Given the description of an element on the screen output the (x, y) to click on. 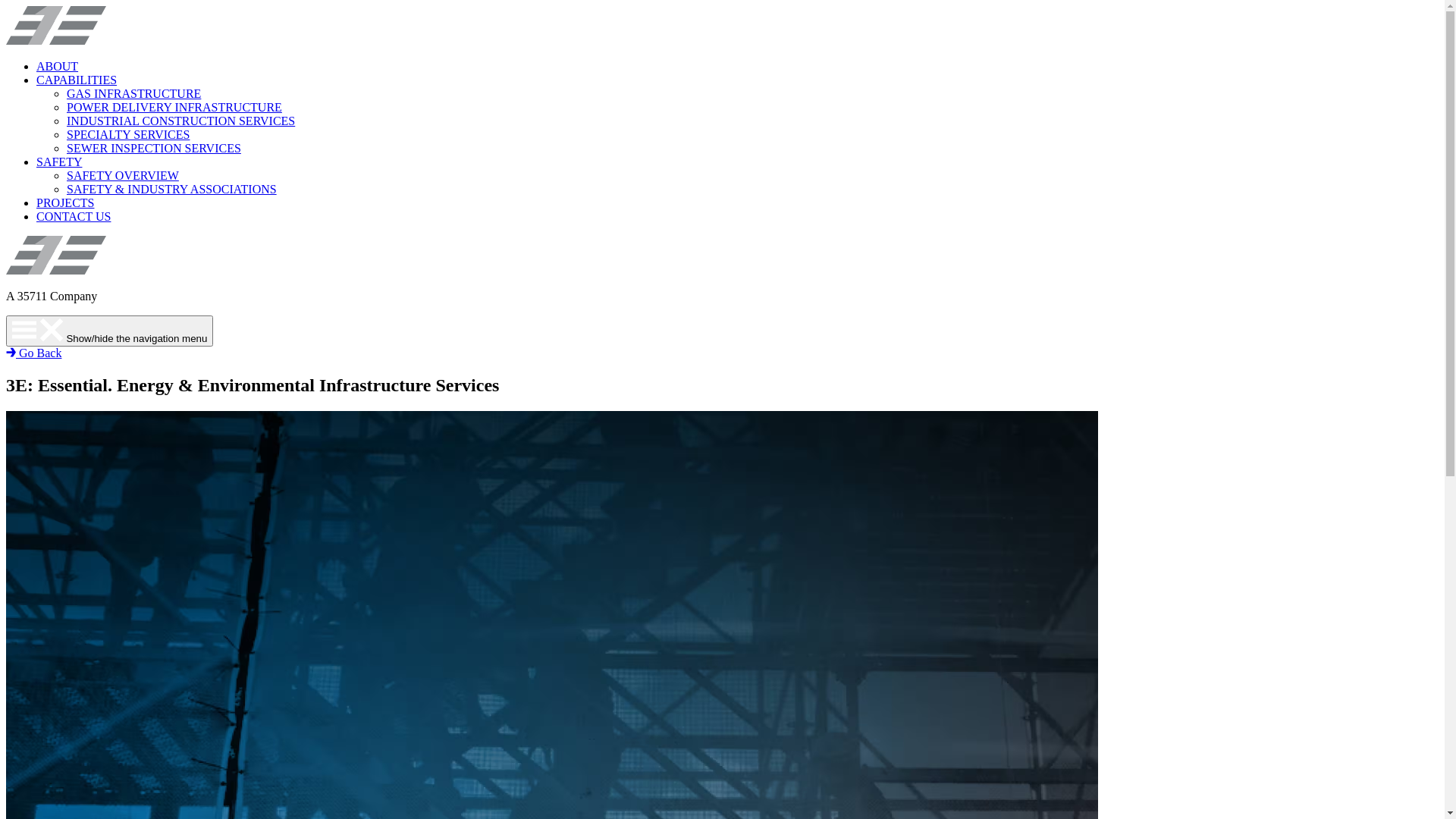
INDUSTRIAL CONSTRUCTION SERVICES Element type: text (180, 120)
CAPABILITIES Element type: text (76, 79)
PROJECTS Element type: text (65, 202)
SAFETY OVERVIEW Element type: text (122, 175)
CONTACT US Element type: text (73, 216)
ABOUT Element type: text (57, 65)
SAFETY Element type: text (58, 161)
Show/hide the navigation menu Element type: text (109, 330)
POWER DELIVERY INFRASTRUCTURE Element type: text (174, 106)
SPECIALTY SERVICES Element type: text (127, 134)
Go Back Element type: text (33, 352)
SEWER INSPECTION SERVICES Element type: text (153, 147)
GAS INFRASTRUCTURE Element type: text (133, 93)
SAFETY & INDUSTRY ASSOCIATIONS Element type: text (171, 188)
